Given the description of an element on the screen output the (x, y) to click on. 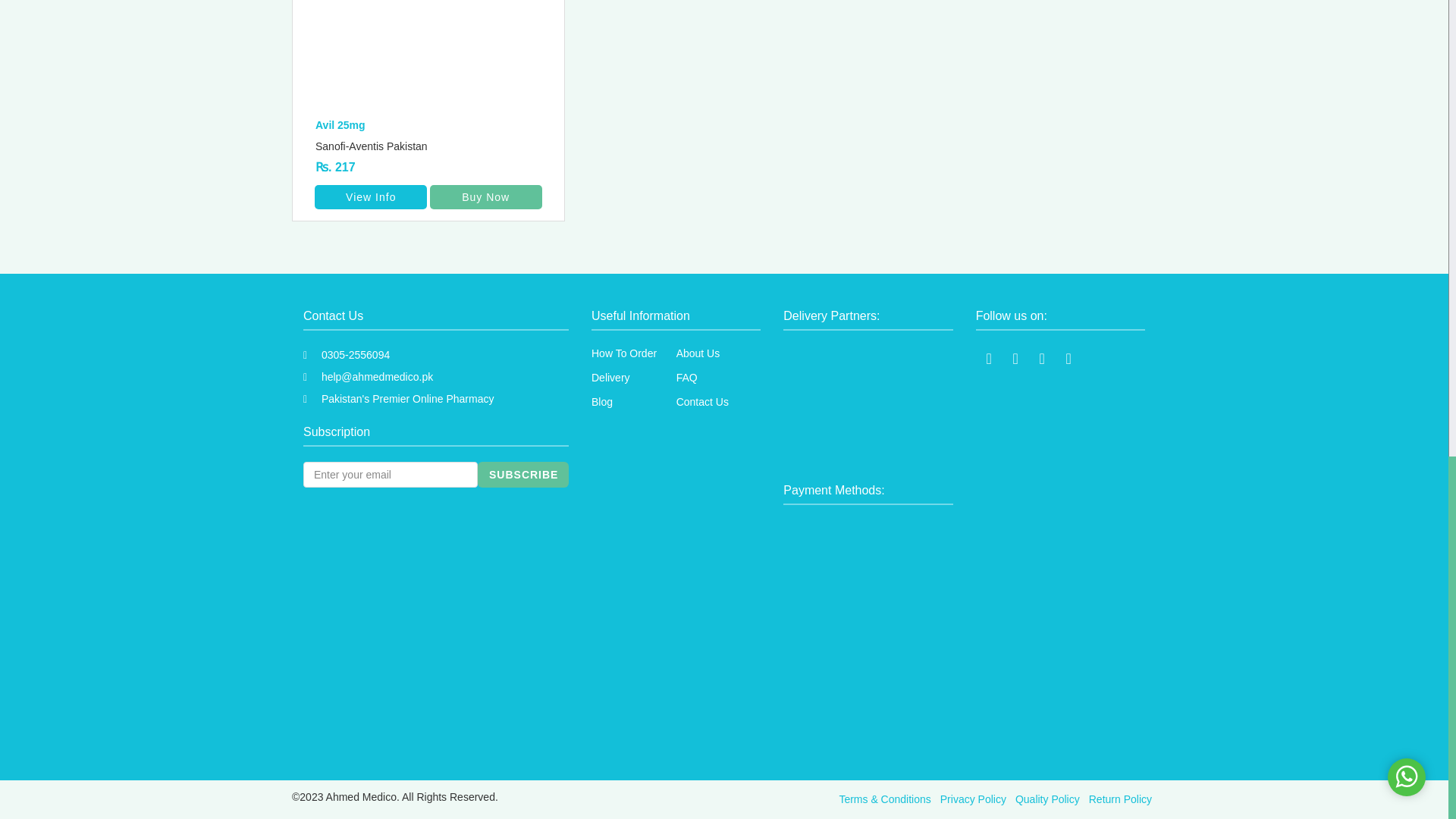
Subscribe (523, 474)
Avil 25mg (434, 125)
Add to Cart (485, 197)
Sanofi-Aventis Pakistan (434, 146)
